Given the description of an element on the screen output the (x, y) to click on. 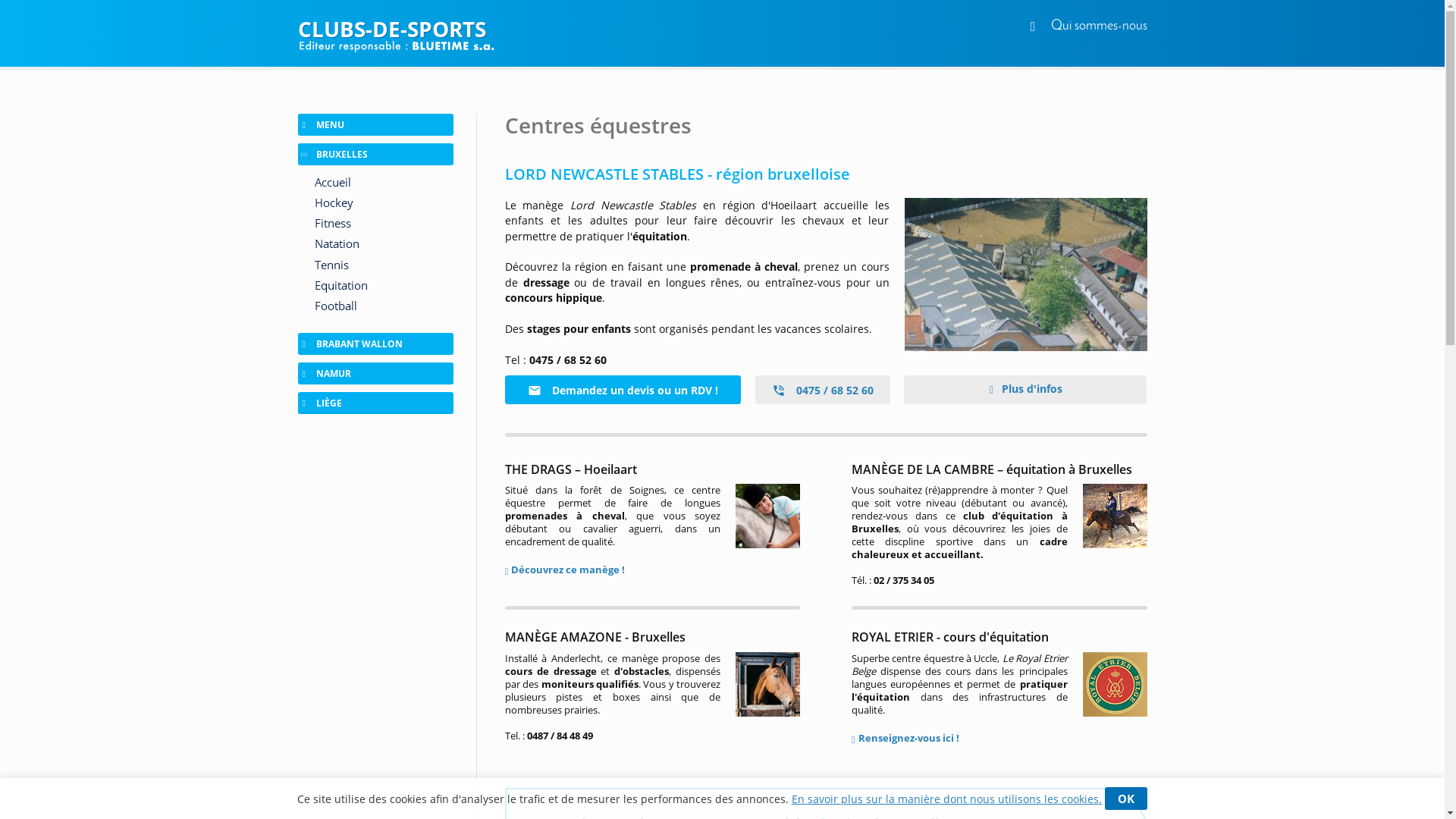
Plus d'infos Element type: text (1024, 389)
0475 / 68 52 60 Element type: text (822, 389)
Renseignez-vous ici ! Element type: text (905, 737)
CLUBS-DE-SPORTS Element type: text (721, 28)
Qui sommes-nous Element type: text (1099, 25)
Plus d'informations ? Visitez leur site ! Element type: hover (1024, 274)
Demandez un devis ou un RDV ! Element type: text (622, 389)
